Given the description of an element on the screen output the (x, y) to click on. 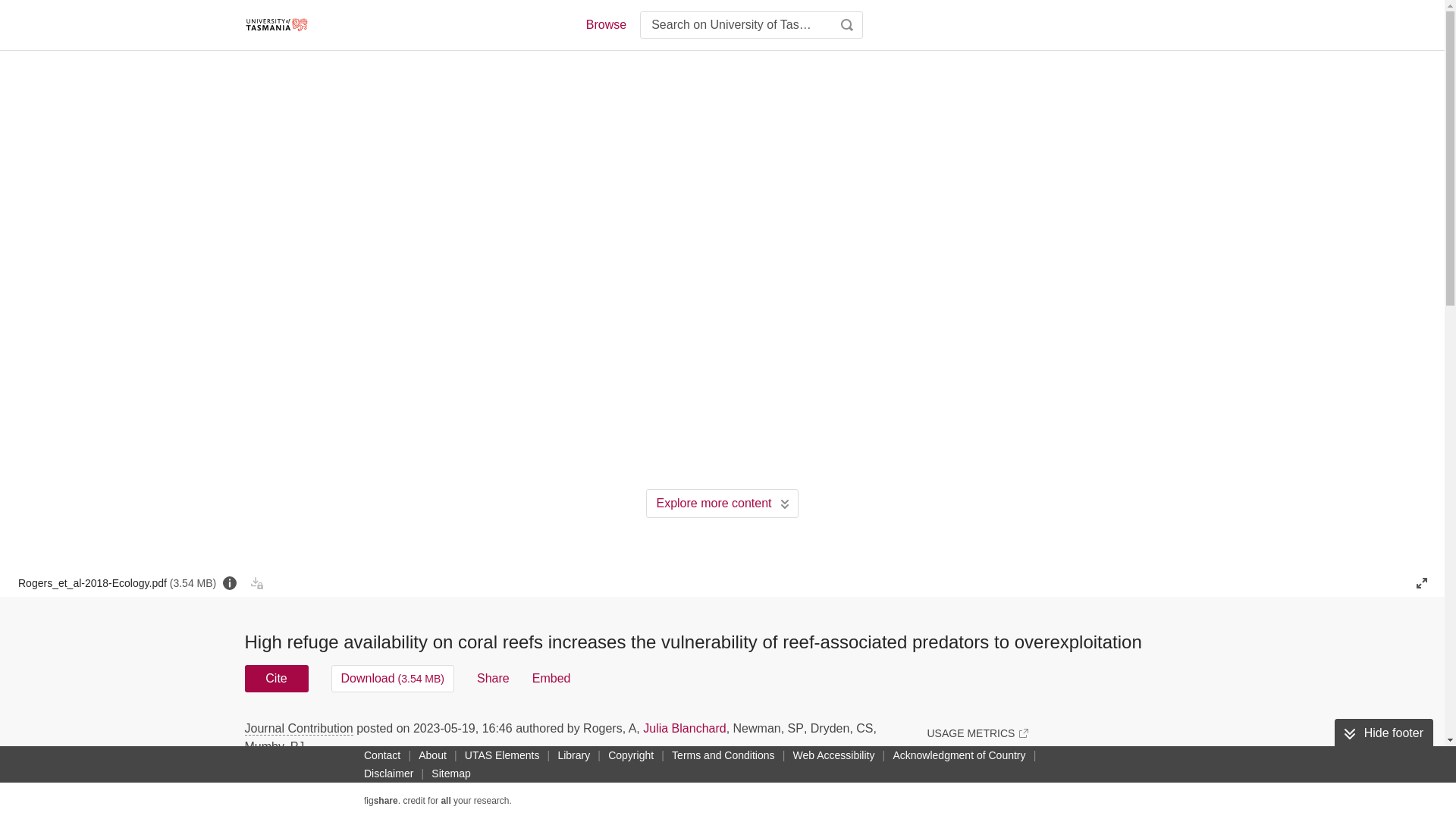
UTAS Elements (502, 755)
Contact (381, 755)
Julia Blanchard (684, 727)
Embed (551, 678)
Copyright (631, 755)
Explore more content (721, 502)
USAGE METRICS (976, 732)
About (432, 755)
Hide footer (1383, 733)
Share (493, 678)
Cite (275, 678)
Browse (605, 24)
Library (573, 755)
